Given the description of an element on the screen output the (x, y) to click on. 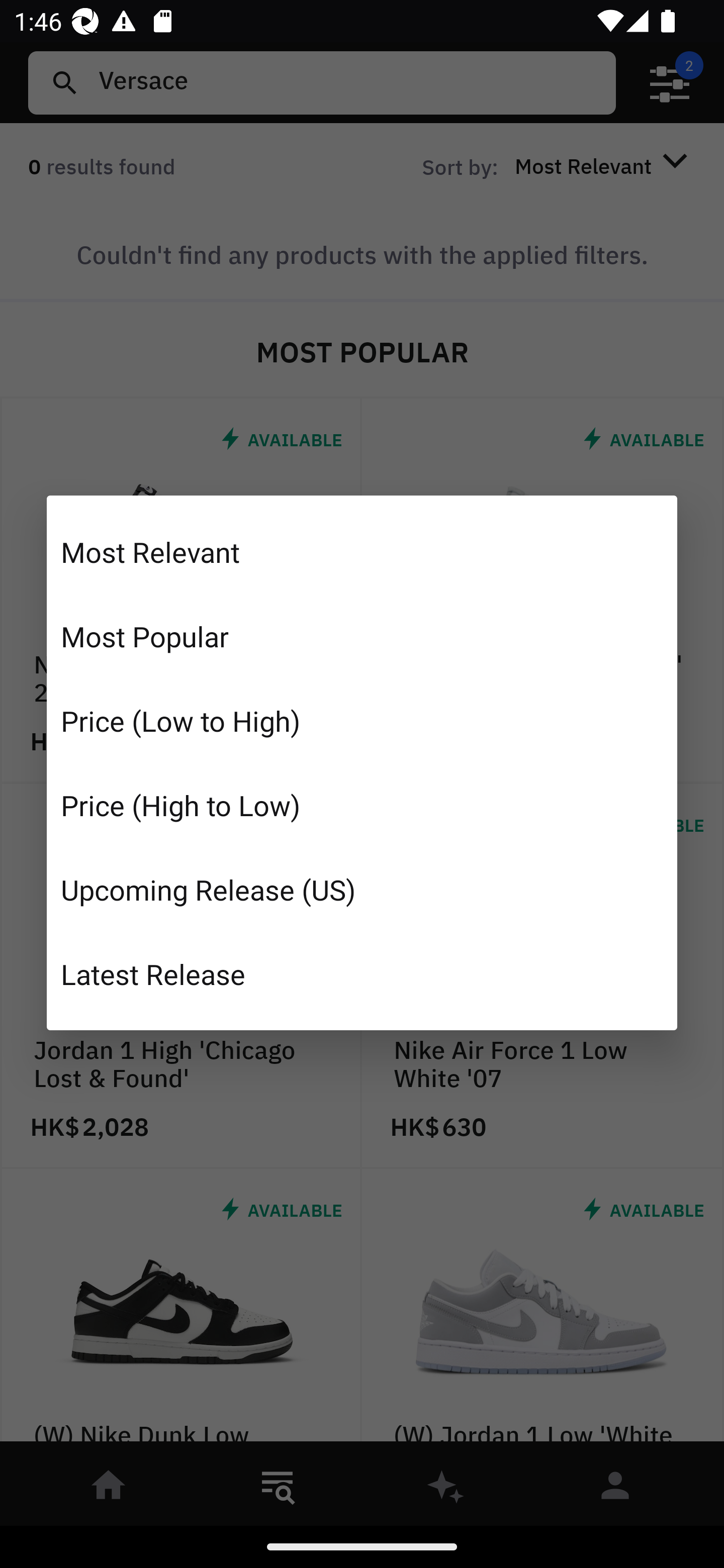
Most Relevant (361, 551)
Most Popular (361, 636)
Price (Low to High) (361, 720)
Price (High to Low) (361, 804)
Upcoming Release (US) (361, 888)
Latest Release (361, 973)
